Given the description of an element on the screen output the (x, y) to click on. 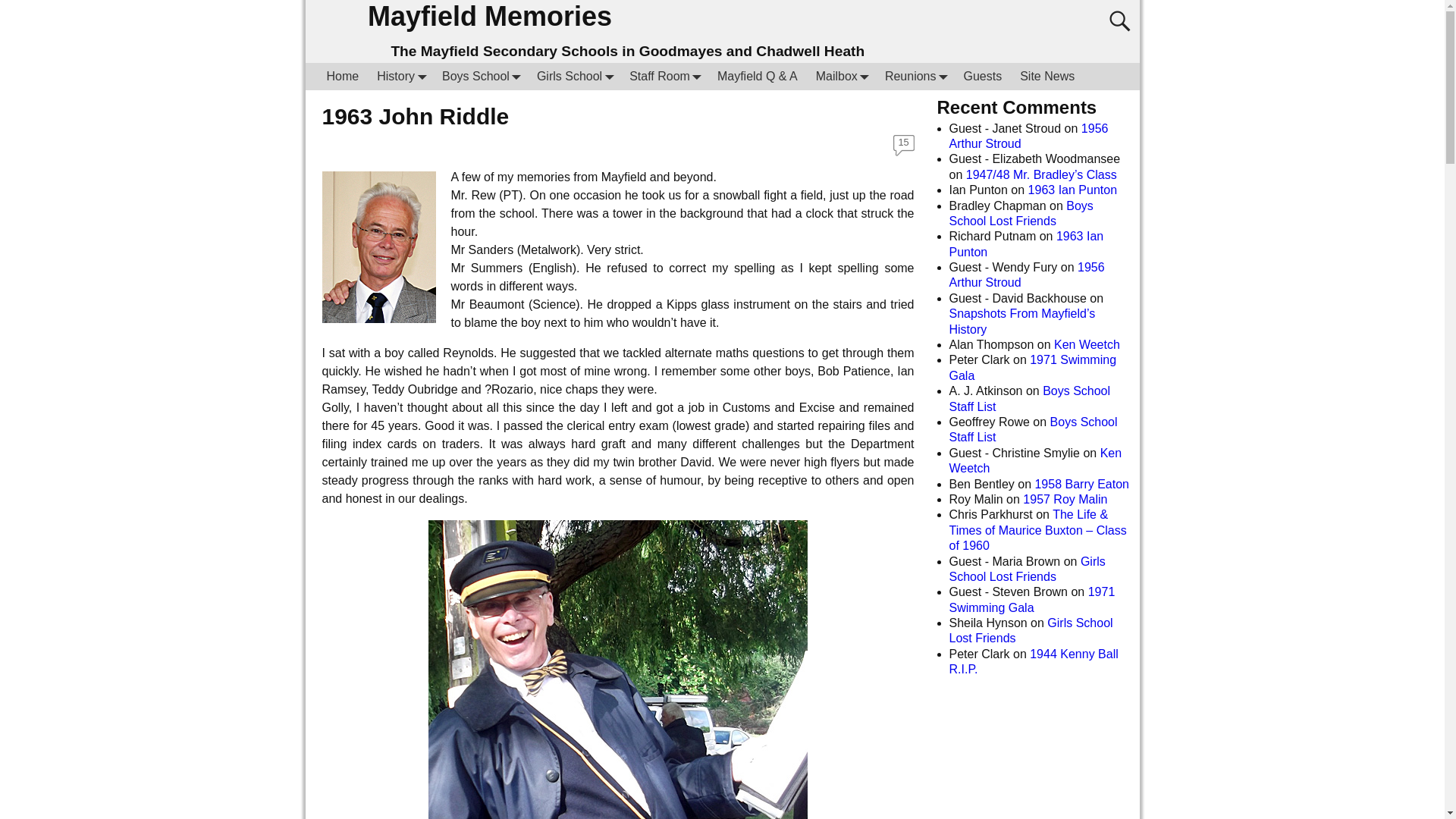
History (400, 76)
Girls School (573, 76)
Mayfield Memories (489, 15)
Home (342, 76)
Home (342, 76)
Mayfield Memories (489, 15)
Boys School (479, 76)
